Given the description of an element on the screen output the (x, y) to click on. 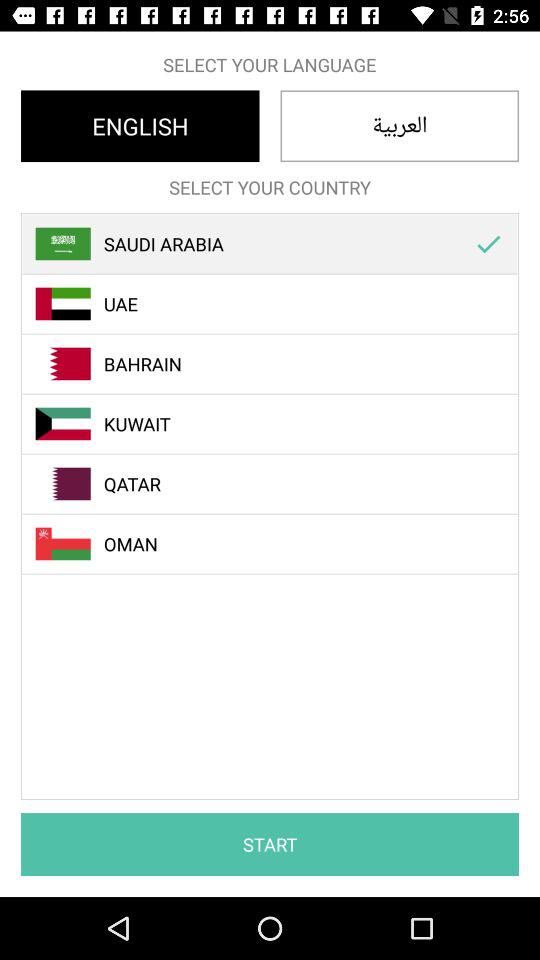
press item above qatar (281, 423)
